Given the description of an element on the screen output the (x, y) to click on. 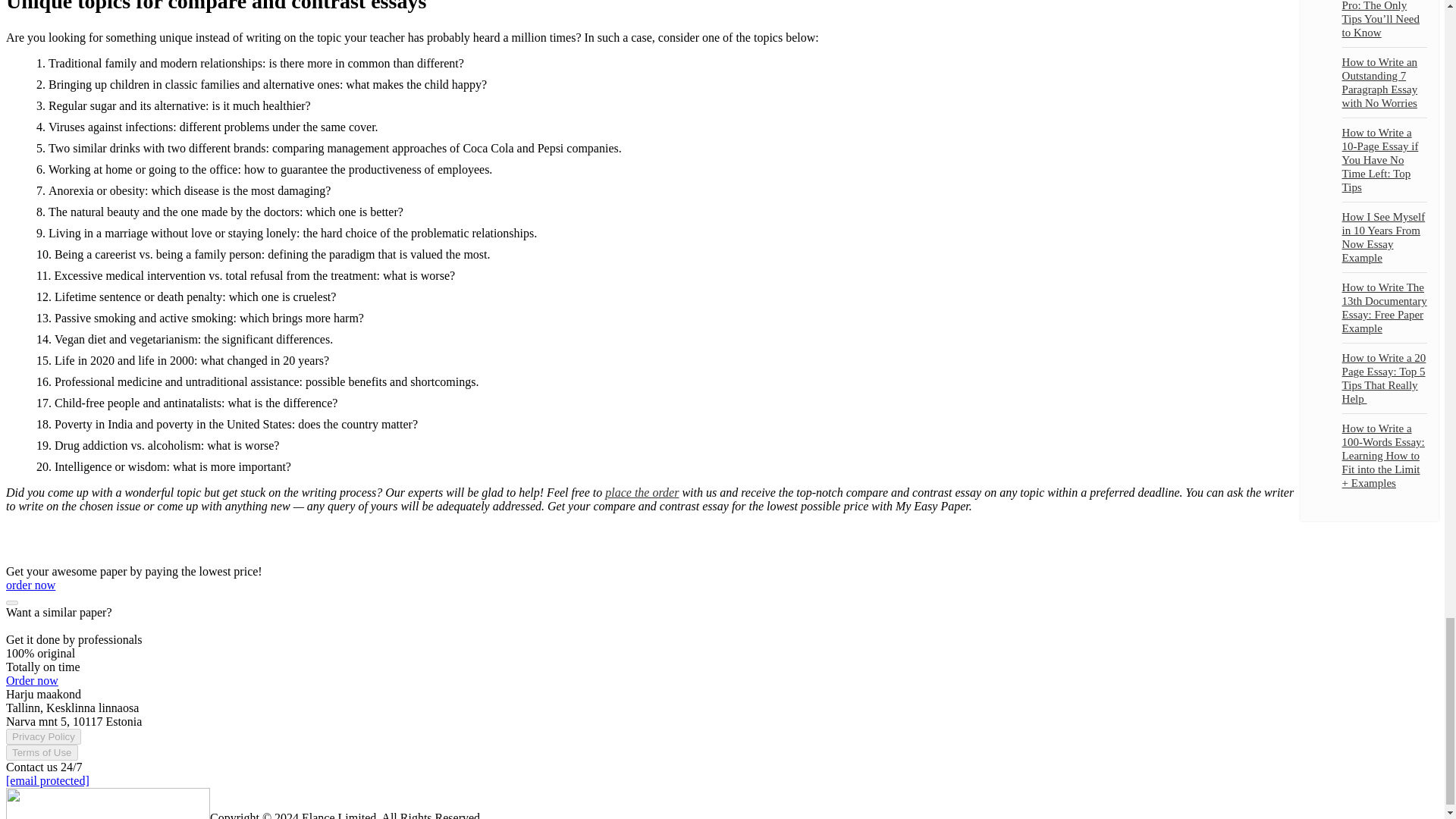
order now (30, 584)
Terms of Use (41, 752)
Order now (31, 680)
place the order (641, 492)
Privacy Policy (43, 736)
